Given the description of an element on the screen output the (x, y) to click on. 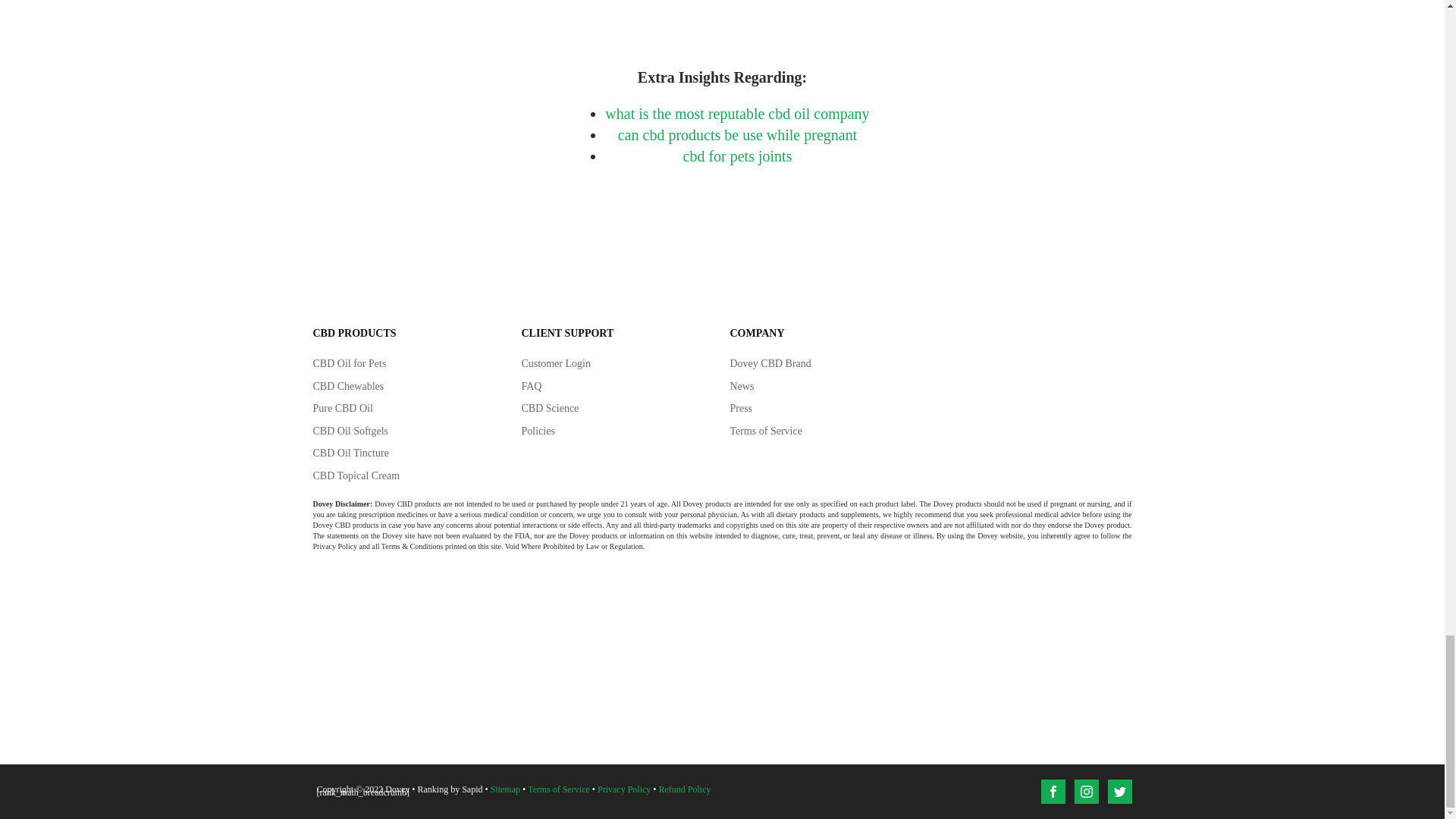
CBD PRODUCTS (354, 333)
Pure CBD Oil (342, 408)
CBD Topical Cream (355, 476)
CBD Oil Tincture (350, 453)
CBD Chewables (348, 386)
cbd for pets joints (737, 156)
can cbd products be use while pregnant (737, 134)
CBD Oil Softgels (350, 431)
CBD Oil for Pets (349, 363)
what is the most reputable cbd oil company (737, 113)
